Given the description of an element on the screen output the (x, y) to click on. 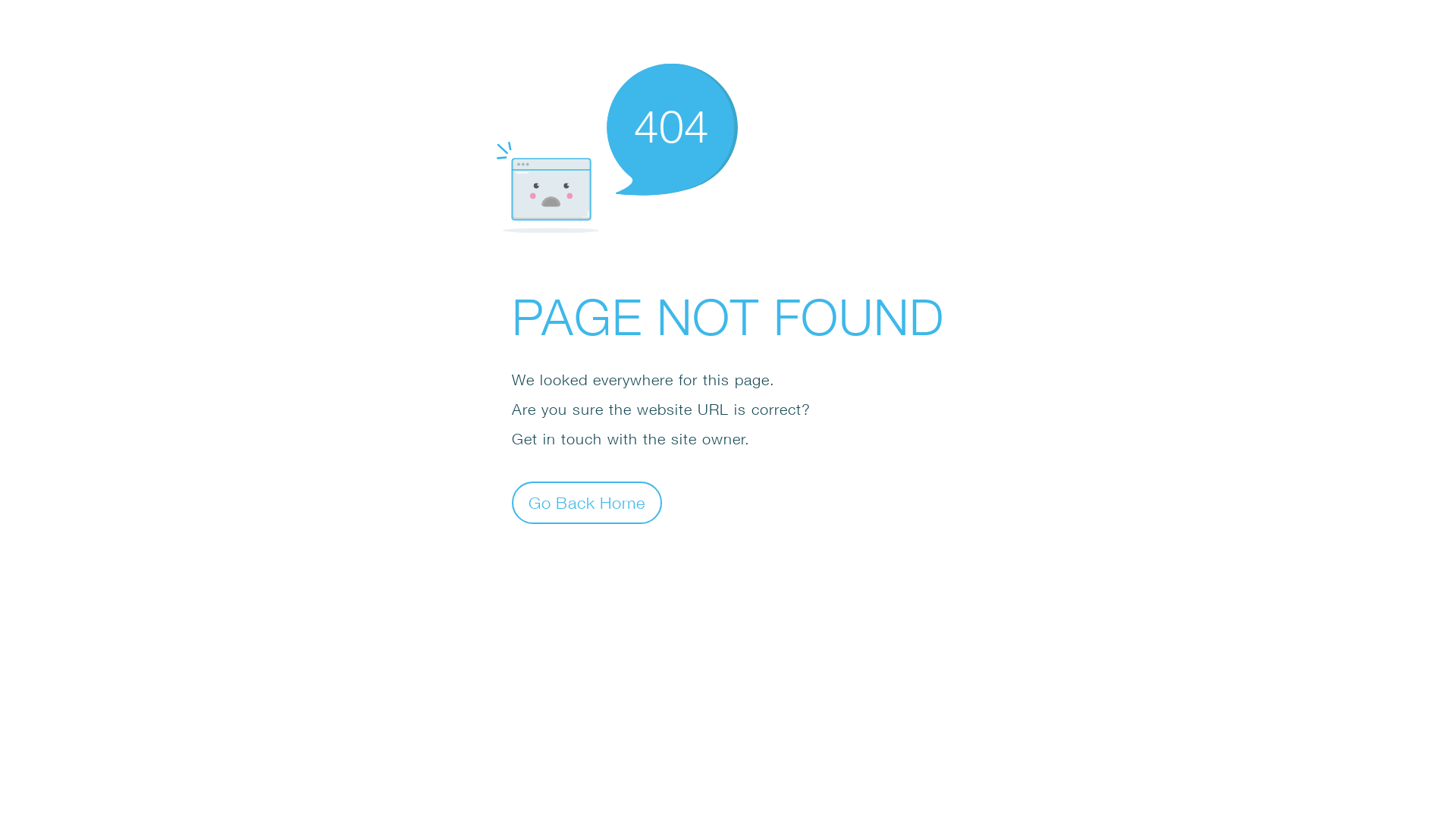
Go Back Home Element type: text (586, 502)
